Given the description of an element on the screen output the (x, y) to click on. 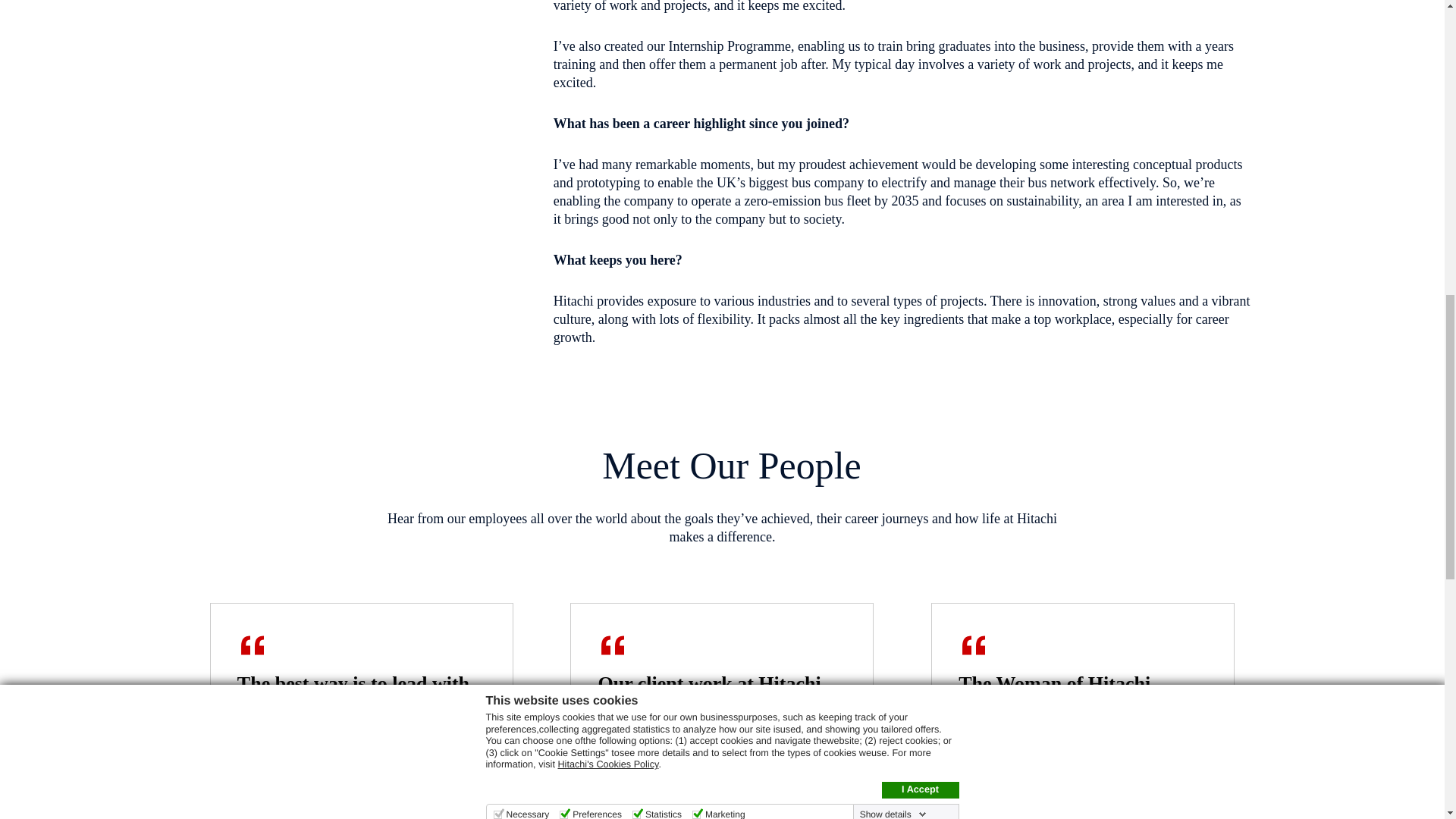
Show details (893, 0)
